Given the description of an element on the screen output the (x, y) to click on. 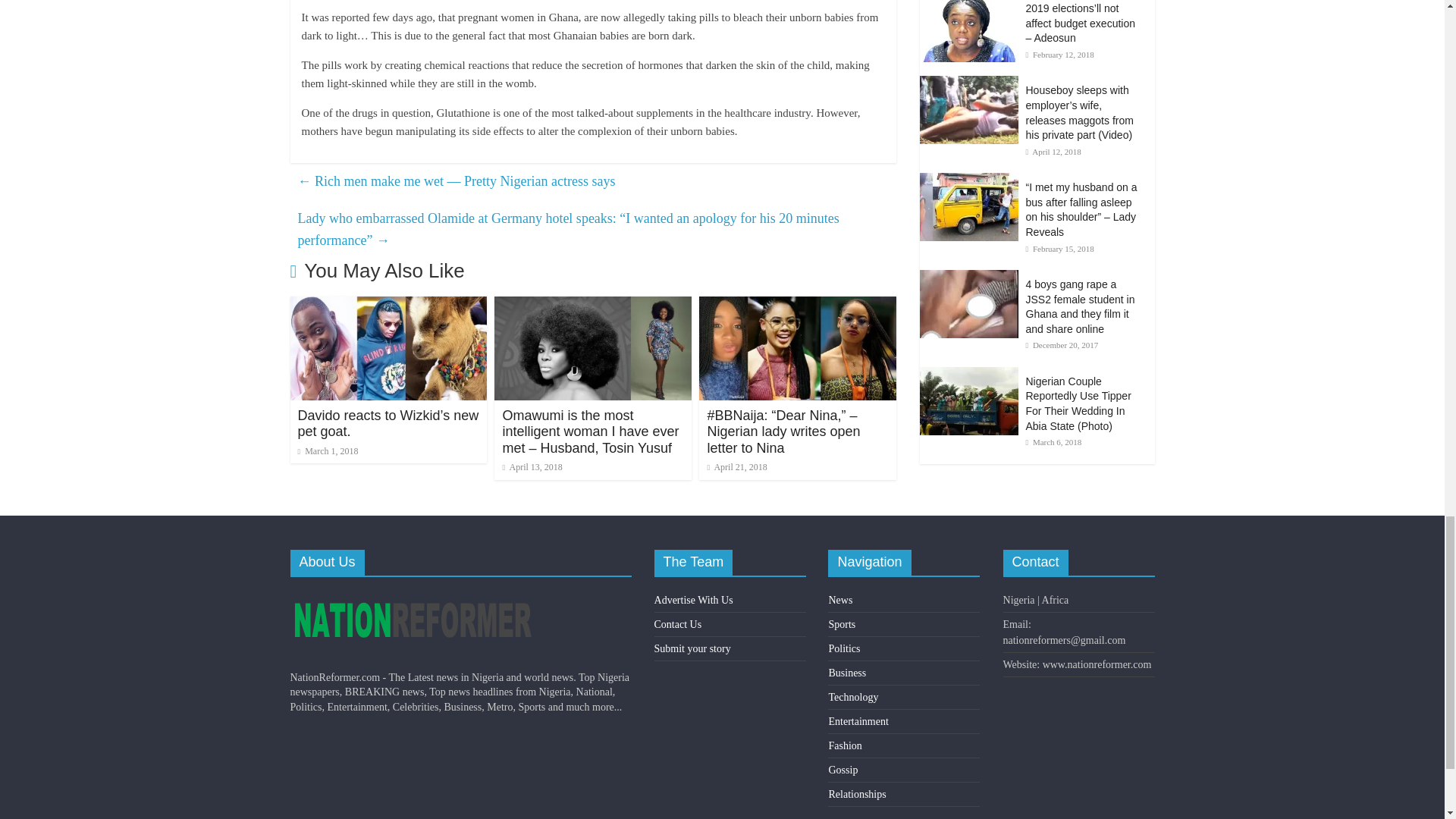
4:09 pm (532, 466)
April 13, 2018 (532, 466)
11:06 am (327, 450)
March 1, 2018 (327, 450)
